Given the description of an element on the screen output the (x, y) to click on. 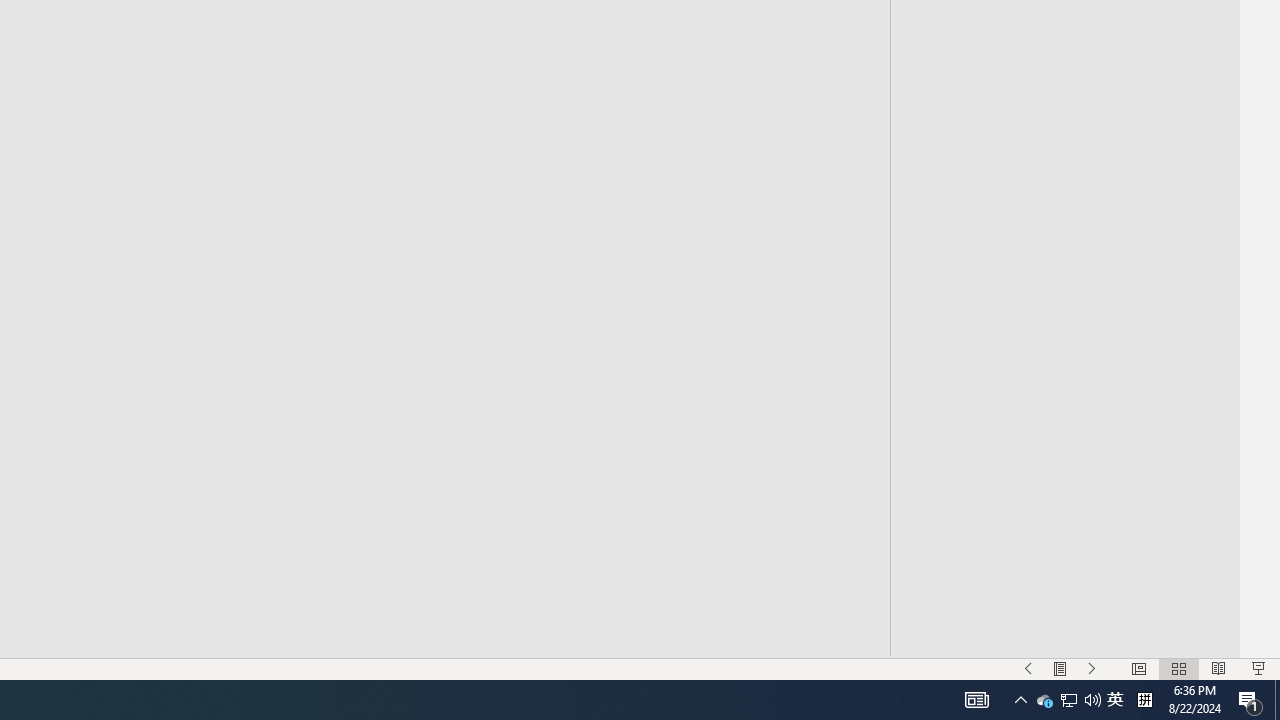
Slide Sorter (1178, 668)
Normal (1138, 668)
Menu On (1060, 668)
Slide Show Previous On (1028, 668)
Slide Show (1258, 668)
Reading View (1219, 668)
Slide Show Next On (1092, 668)
